Given the description of an element on the screen output the (x, y) to click on. 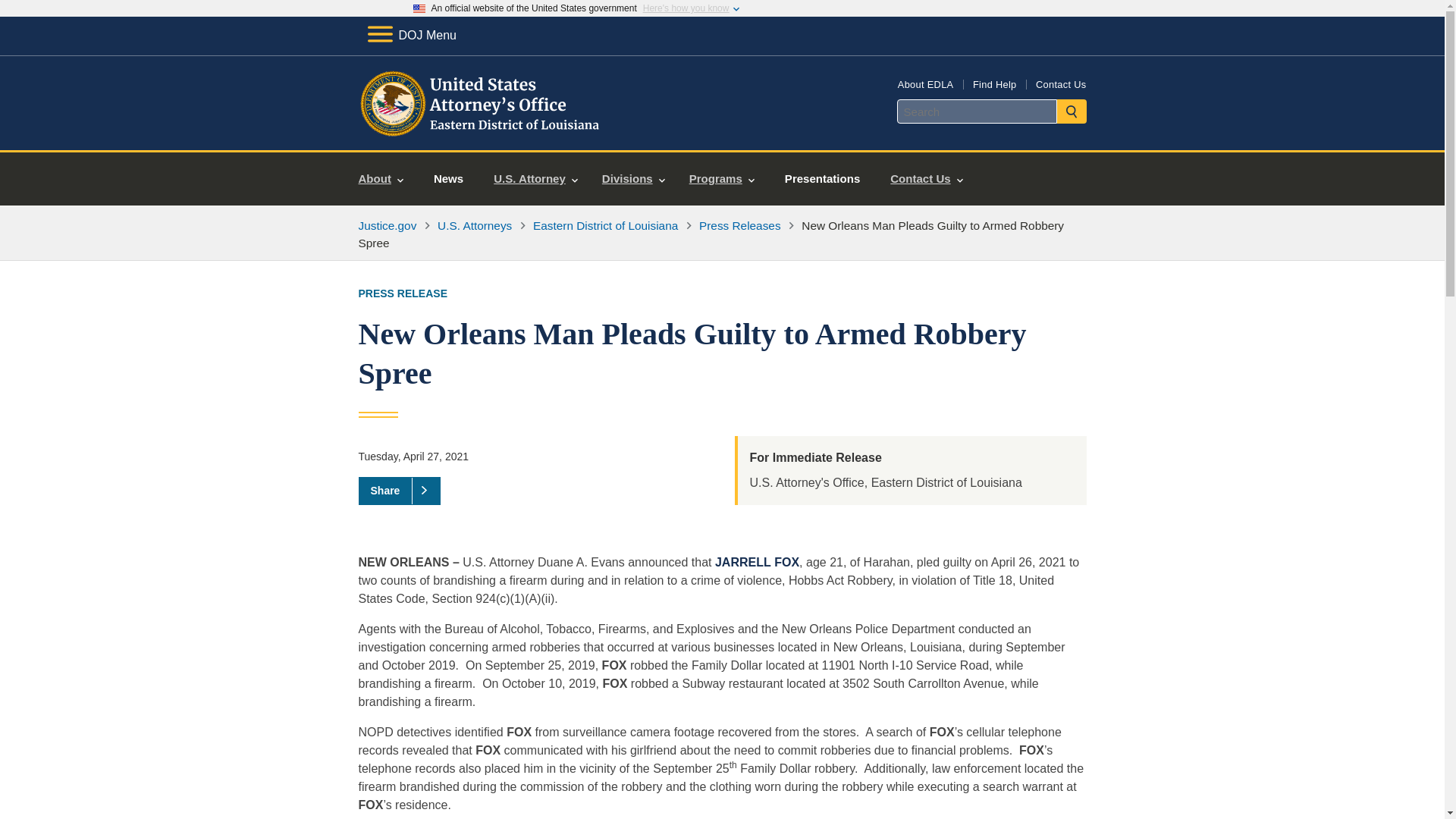
Eastern District of Louisiana (605, 225)
Find Help (994, 84)
Justice.gov (387, 225)
Contact Us (925, 179)
Press Releases (739, 225)
Here's how you know (686, 8)
DOJ Menu (411, 35)
Contact Us (1060, 84)
About (380, 179)
About EDLA (925, 84)
